Given the description of an element on the screen output the (x, y) to click on. 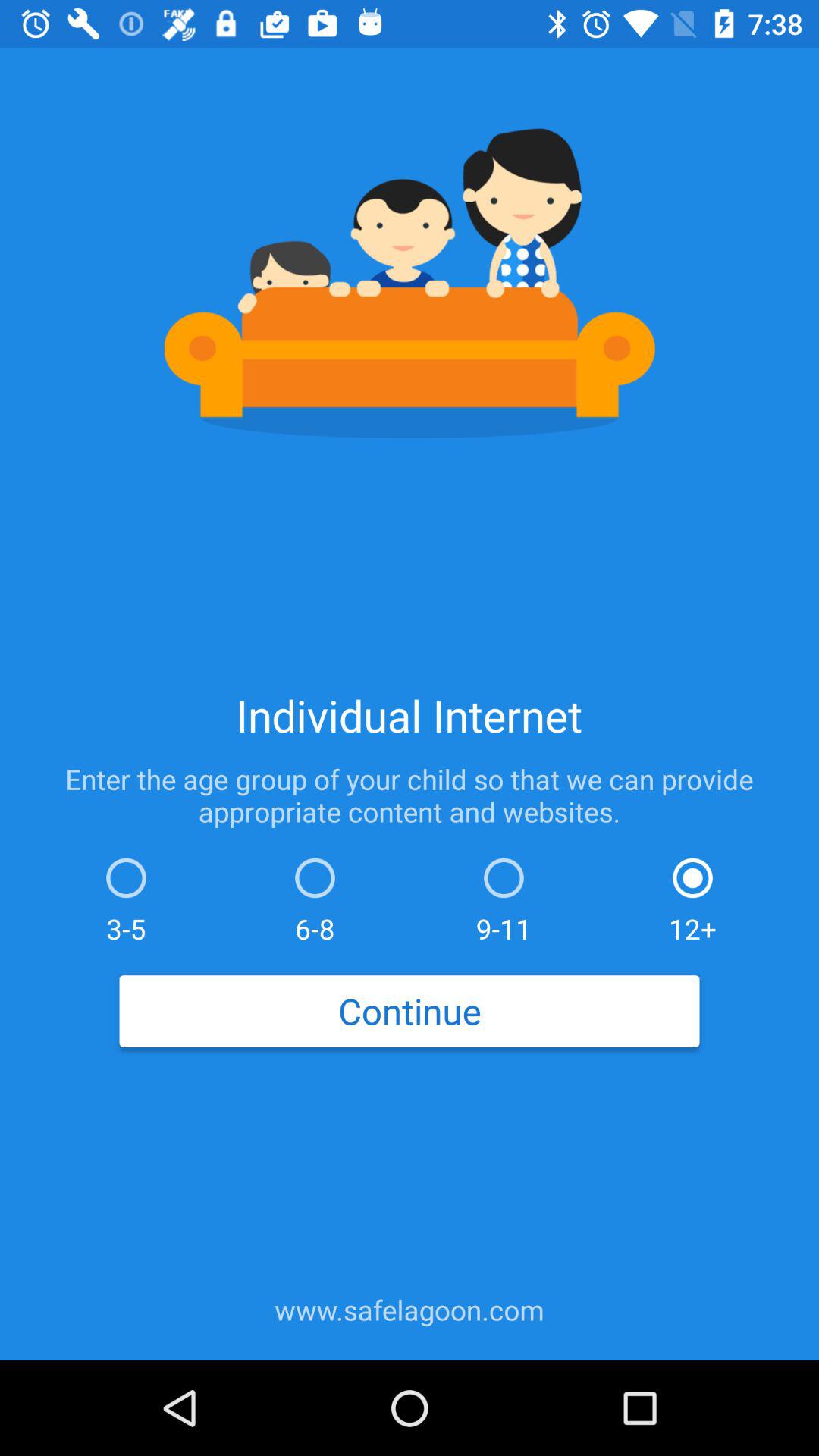
swipe until 9-11 icon (503, 896)
